Given the description of an element on the screen output the (x, y) to click on. 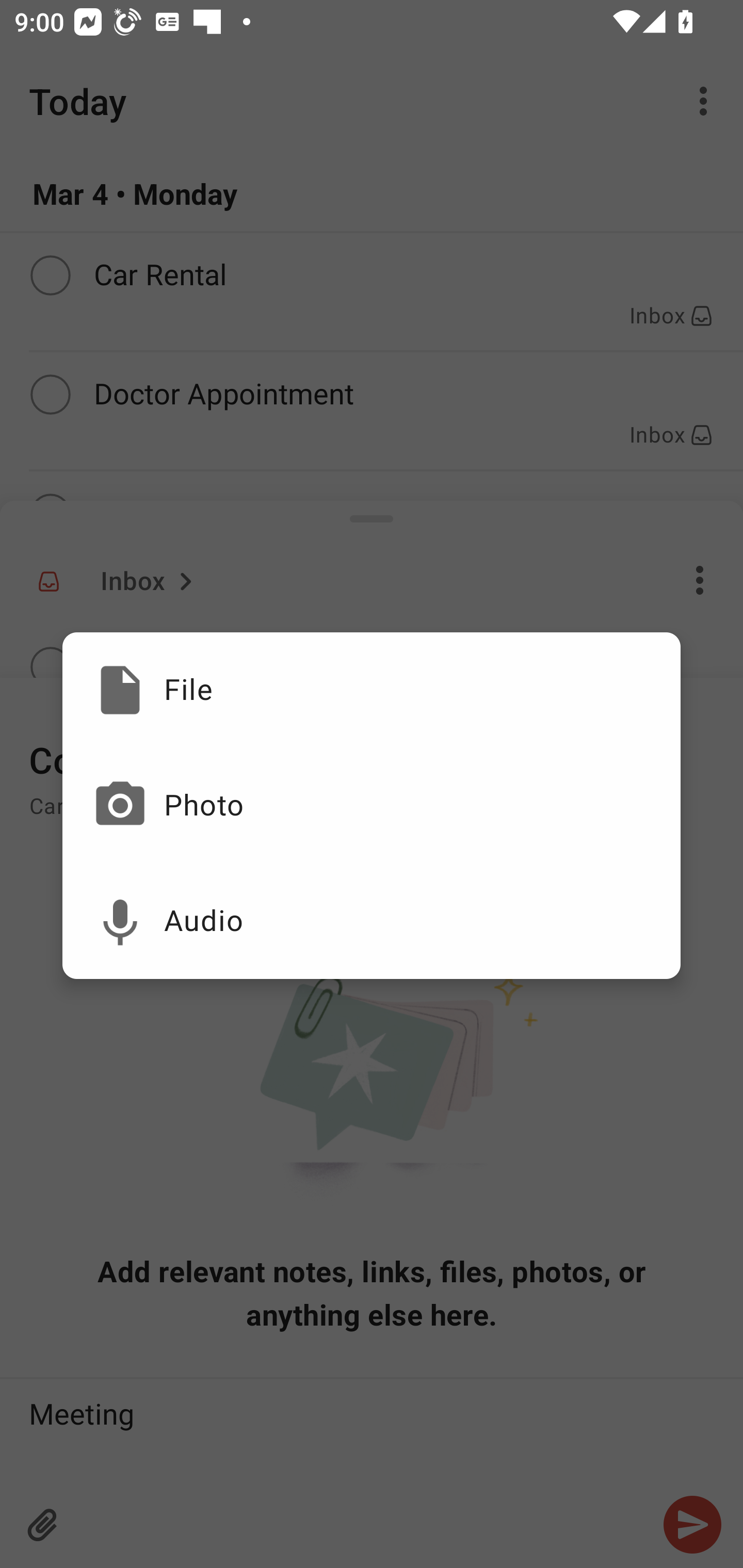
Icon File (371, 689)
Icon Photo (371, 805)
Icon Audio (371, 920)
